Given the description of an element on the screen output the (x, y) to click on. 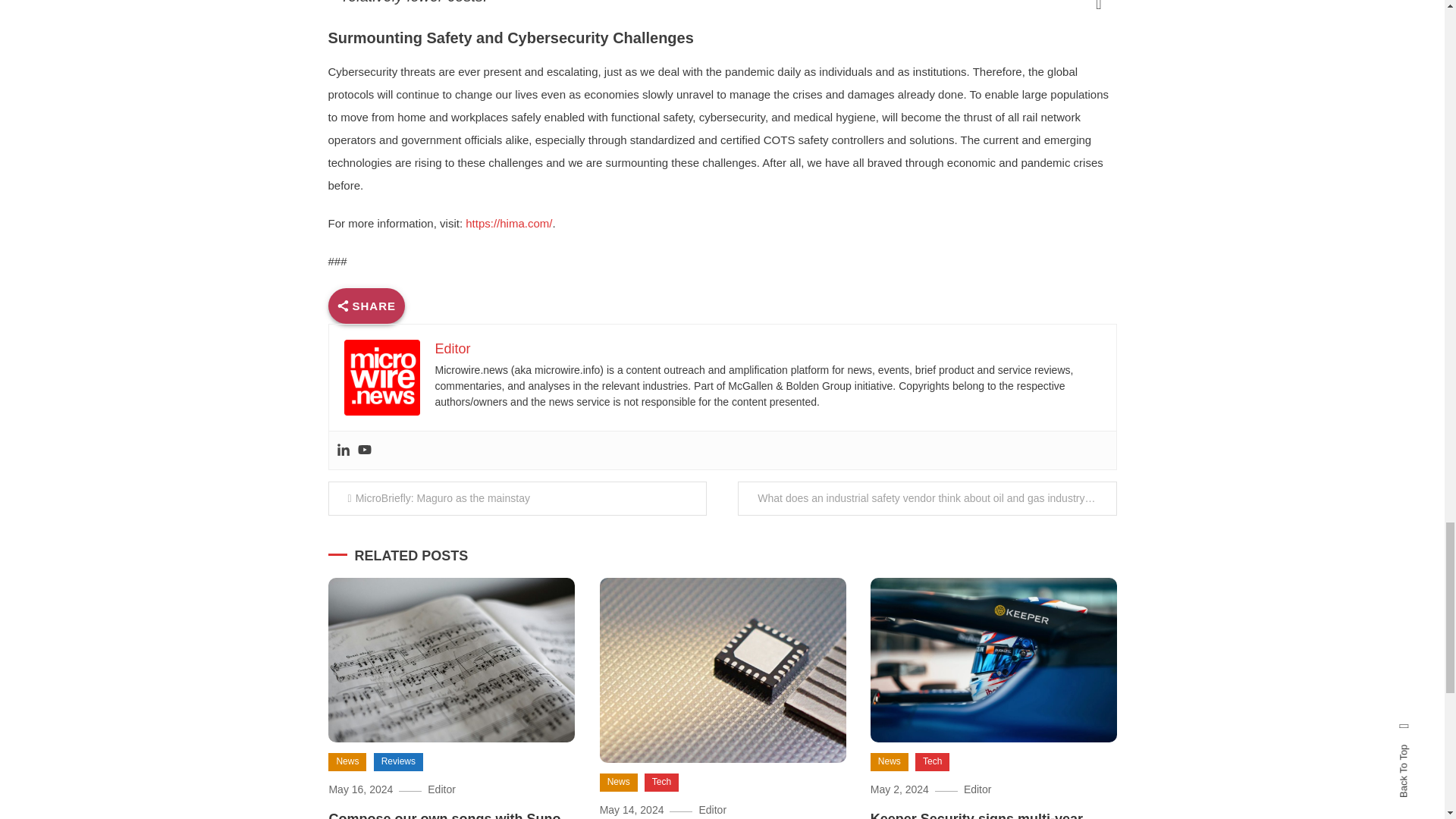
Linkedin (343, 450)
Youtube (364, 450)
